Given the description of an element on the screen output the (x, y) to click on. 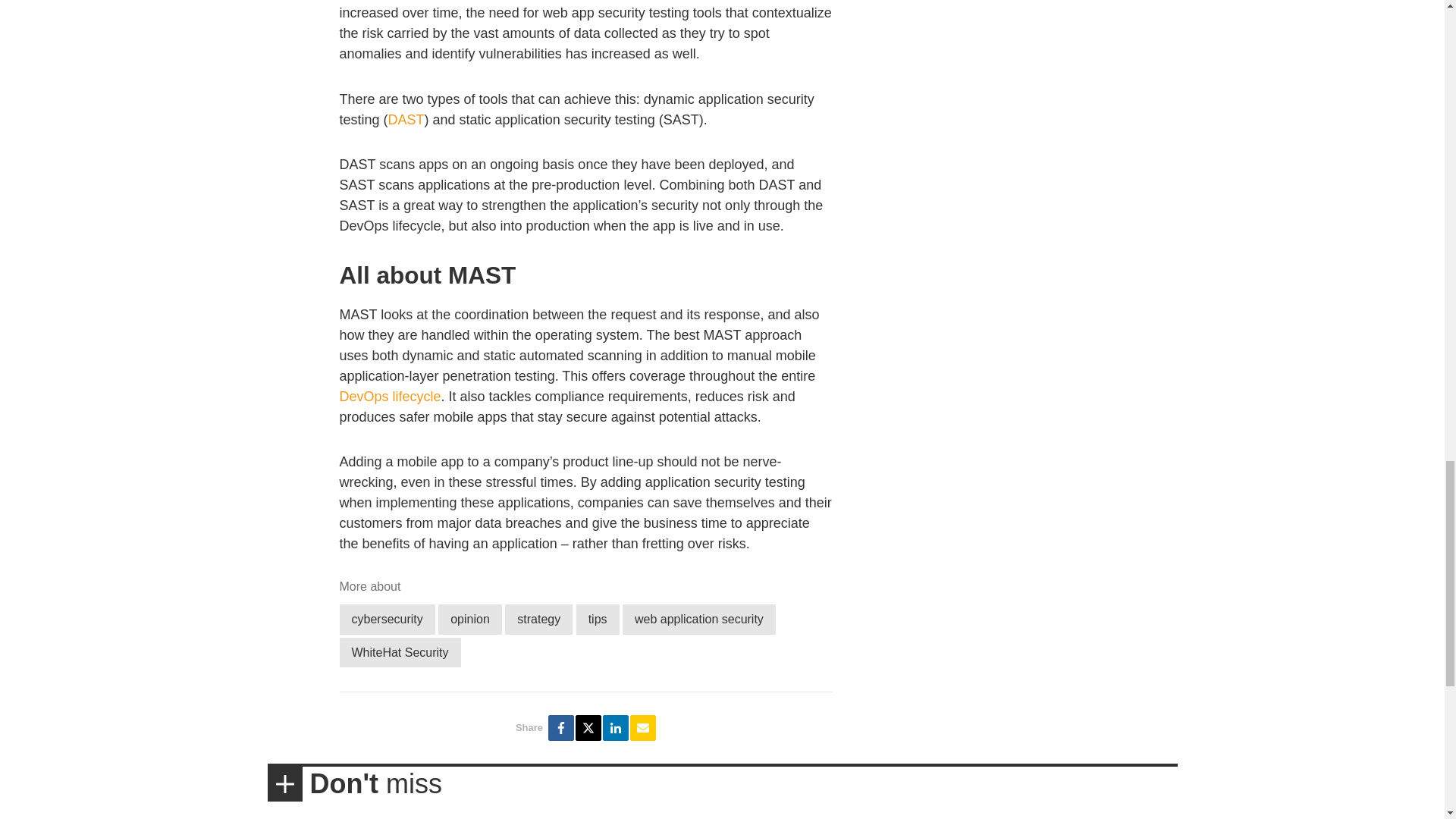
web application security (699, 618)
cybersecurity (387, 618)
cybersecurity (387, 618)
DevOps lifecycle (390, 396)
strategy (538, 618)
tips (598, 618)
strategy (538, 618)
tips (598, 618)
web application security (699, 618)
DAST (406, 119)
WhiteHat Security (400, 652)
